Given the description of an element on the screen output the (x, y) to click on. 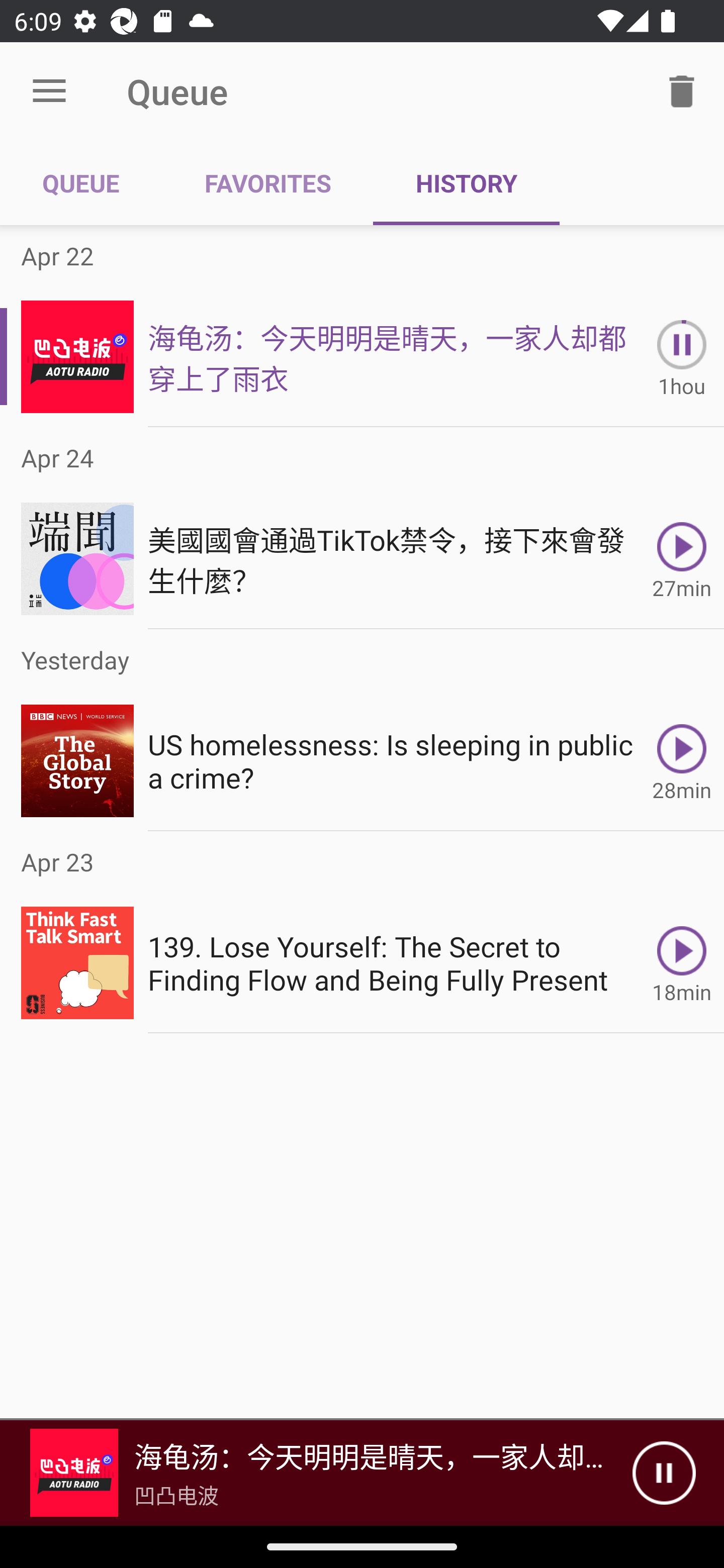
Open menu (49, 91)
Clear History (681, 90)
QUEUE (81, 183)
FAVORITES (267, 183)
HISTORY (465, 183)
Apr 22 海龟汤：今天明明是晴天，一家人却都穿上了雨衣 Play 1hou (362, 325)
Play 1hou (681, 356)
Apr 24 美國國會通過TikTok禁令，接下來會發生什麼？ Play 27min (362, 527)
Play 27min (681, 558)
Play 28min (681, 760)
Play 18min (681, 962)
Picture 海龟汤：今天明明是晴天，一家人却都穿上了雨衣 凹凸电波 (316, 1472)
Pause (663, 1472)
